Given the description of an element on the screen output the (x, y) to click on. 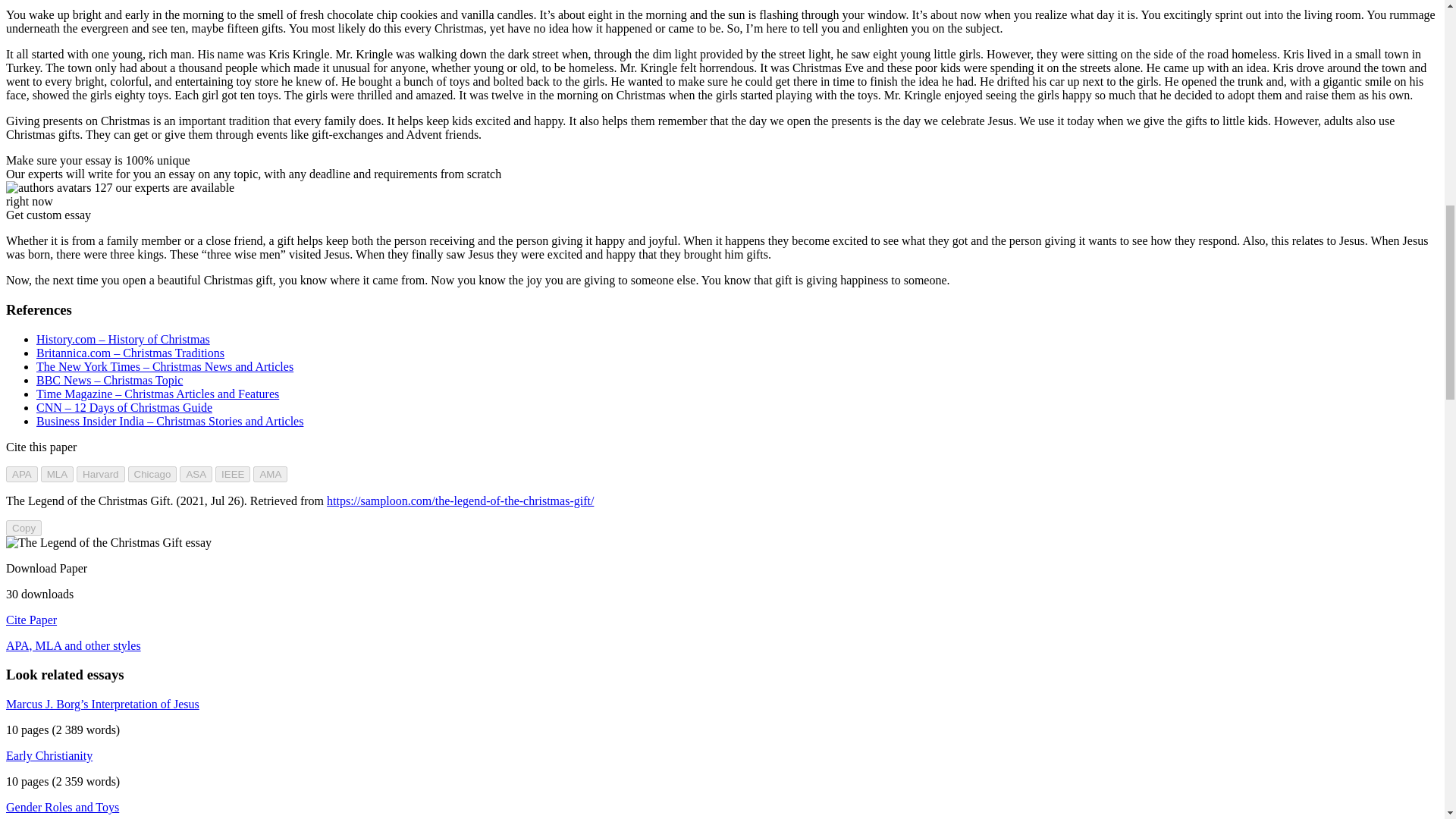
The Legend of the Christmas Gift (108, 542)
